Given the description of an element on the screen output the (x, y) to click on. 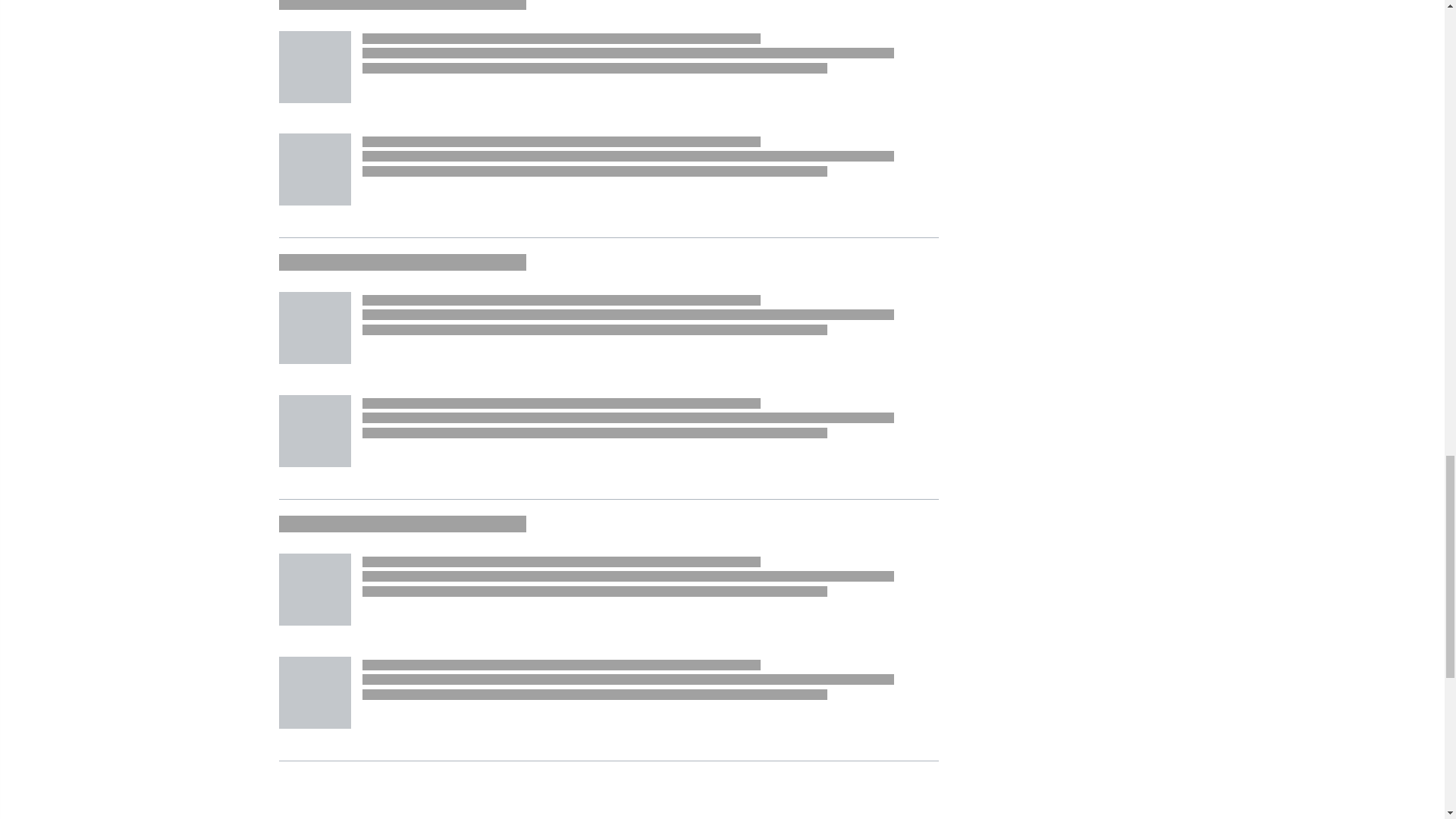
Placeholder (314, 169)
Placeholder (314, 327)
Placeholder (314, 66)
Placeholder (314, 589)
Placeholder (314, 692)
Placeholder (314, 430)
